Given the description of an element on the screen output the (x, y) to click on. 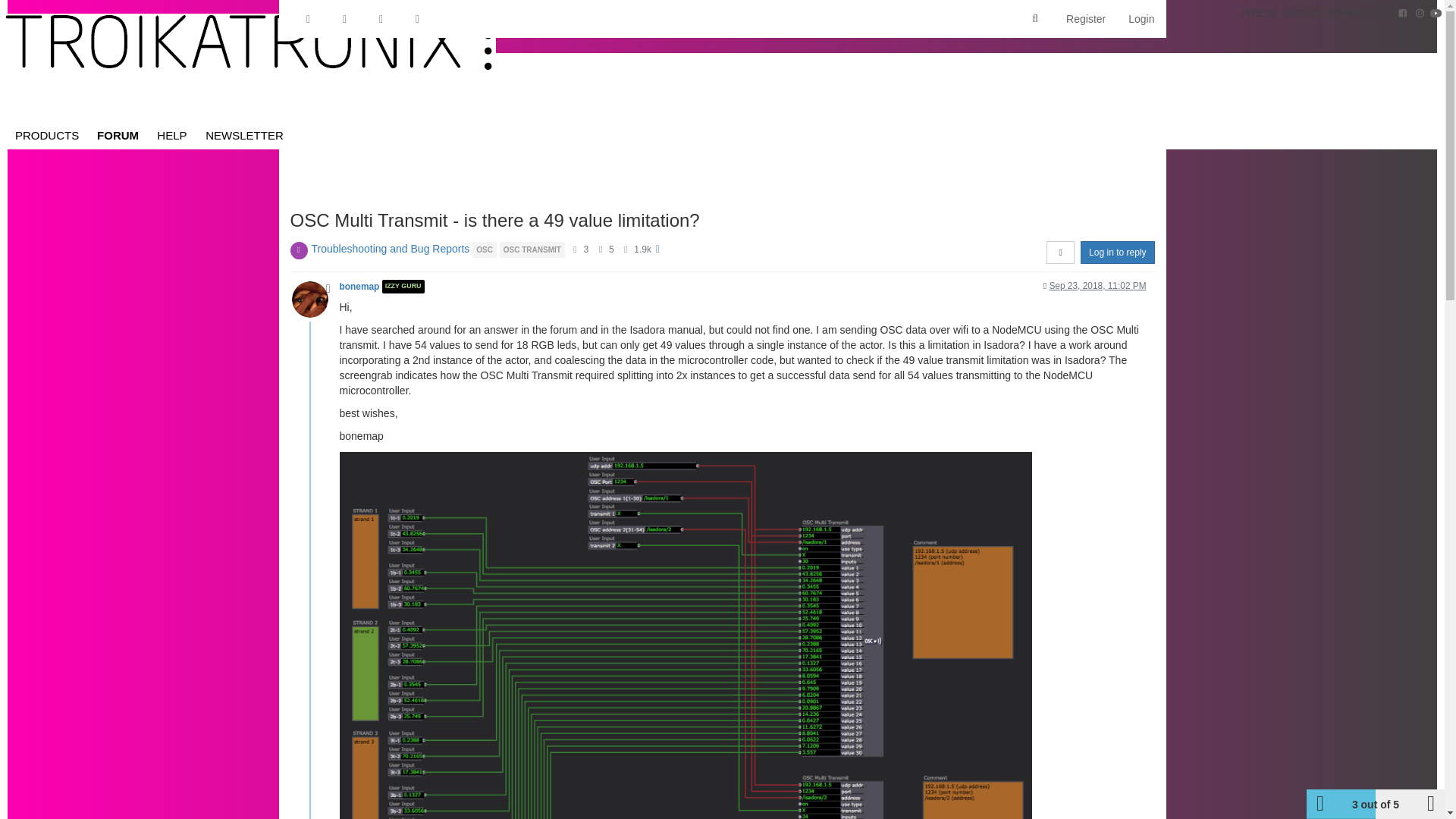
Posts (599, 248)
Posters (574, 248)
Login (1141, 18)
FORUM (117, 135)
Search (1034, 18)
PRESS (1258, 12)
PRODUCTS (46, 135)
3 (586, 249)
5 (611, 249)
IMPRESSUM (1358, 12)
DSGVO (1301, 12)
Register (1085, 18)
NEWSLETTER (244, 135)
HELP (172, 135)
